Given the description of an element on the screen output the (x, y) to click on. 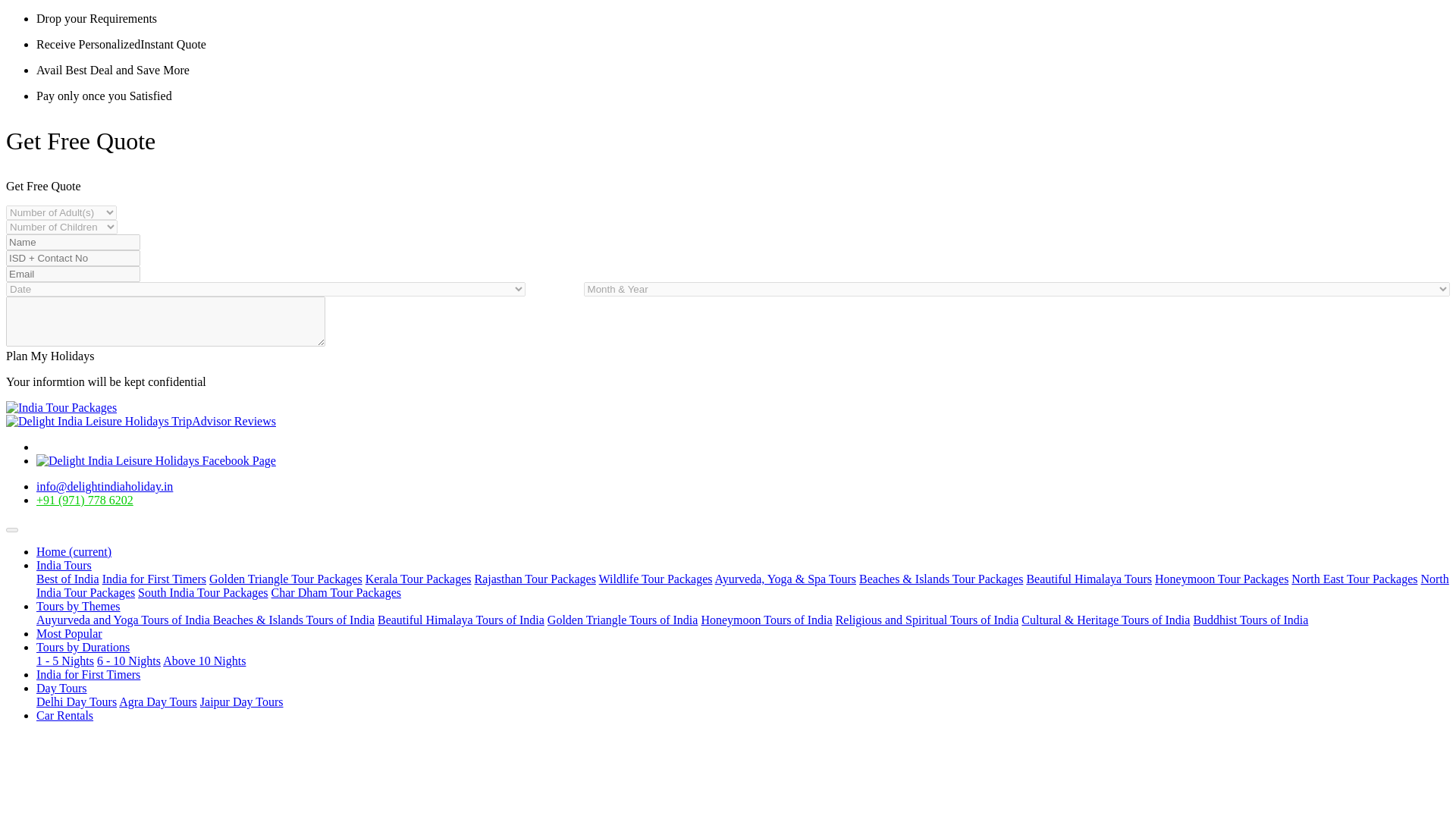
South India Tour Packages (202, 592)
Tours by Themes (78, 605)
Religious and Spiritual Tours of India (927, 619)
Plan My Holidays (49, 355)
Honeymoon Tours of India (765, 619)
Wildlife Tour Packages (655, 578)
India Tours (63, 564)
Auyurveda and Yoga Tours of India (124, 619)
Most Popular (68, 633)
Tours by Durations (82, 646)
Above 10 Nights (204, 660)
1 - 5 Nights (65, 660)
Rajasthan Tour Packages (534, 578)
Beautiful Himalaya Tours of India (460, 619)
6 - 10 Nights (128, 660)
